Given the description of an element on the screen output the (x, y) to click on. 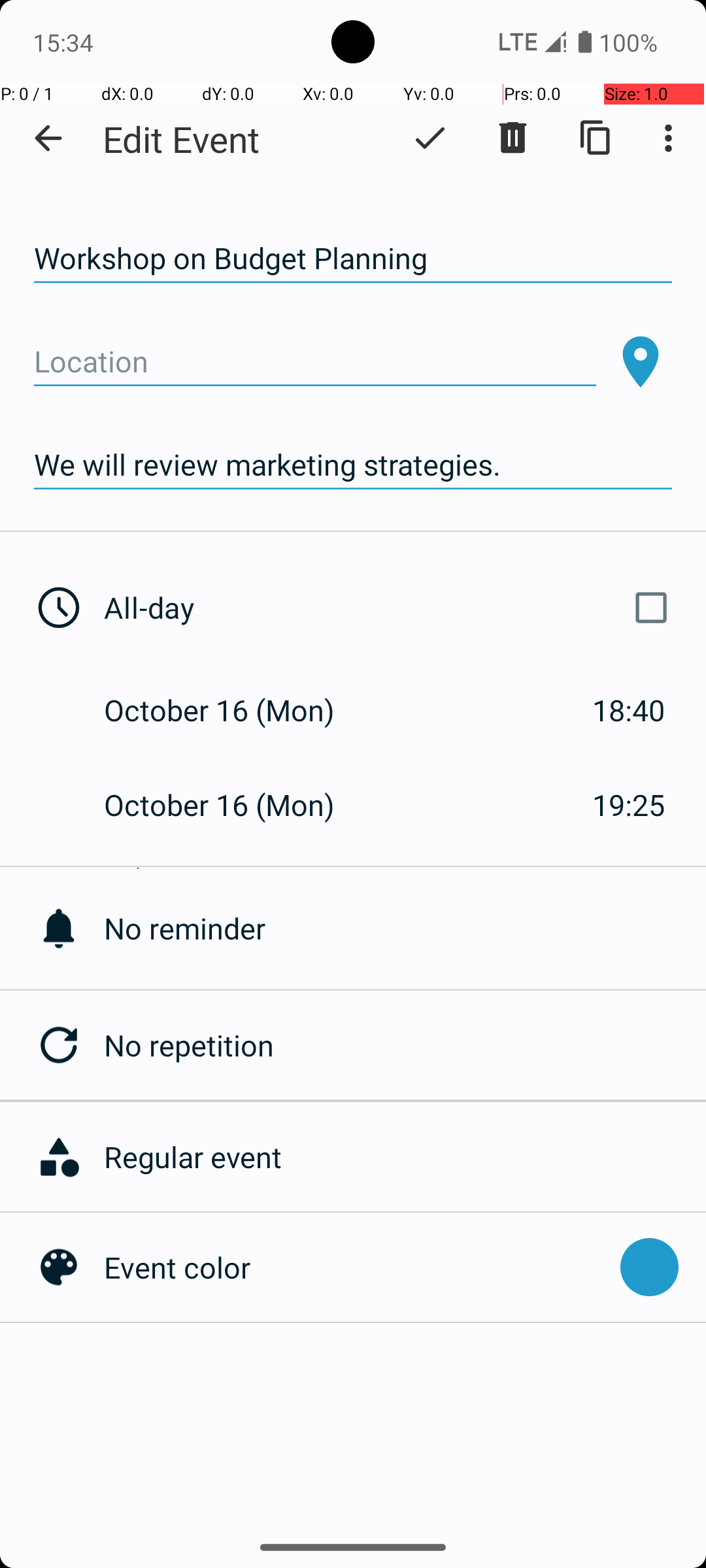
We will review marketing strategies. Element type: android.widget.EditText (352, 465)
18:40 Element type: android.widget.TextView (628, 709)
19:25 Element type: android.widget.TextView (628, 804)
